Given the description of an element on the screen output the (x, y) to click on. 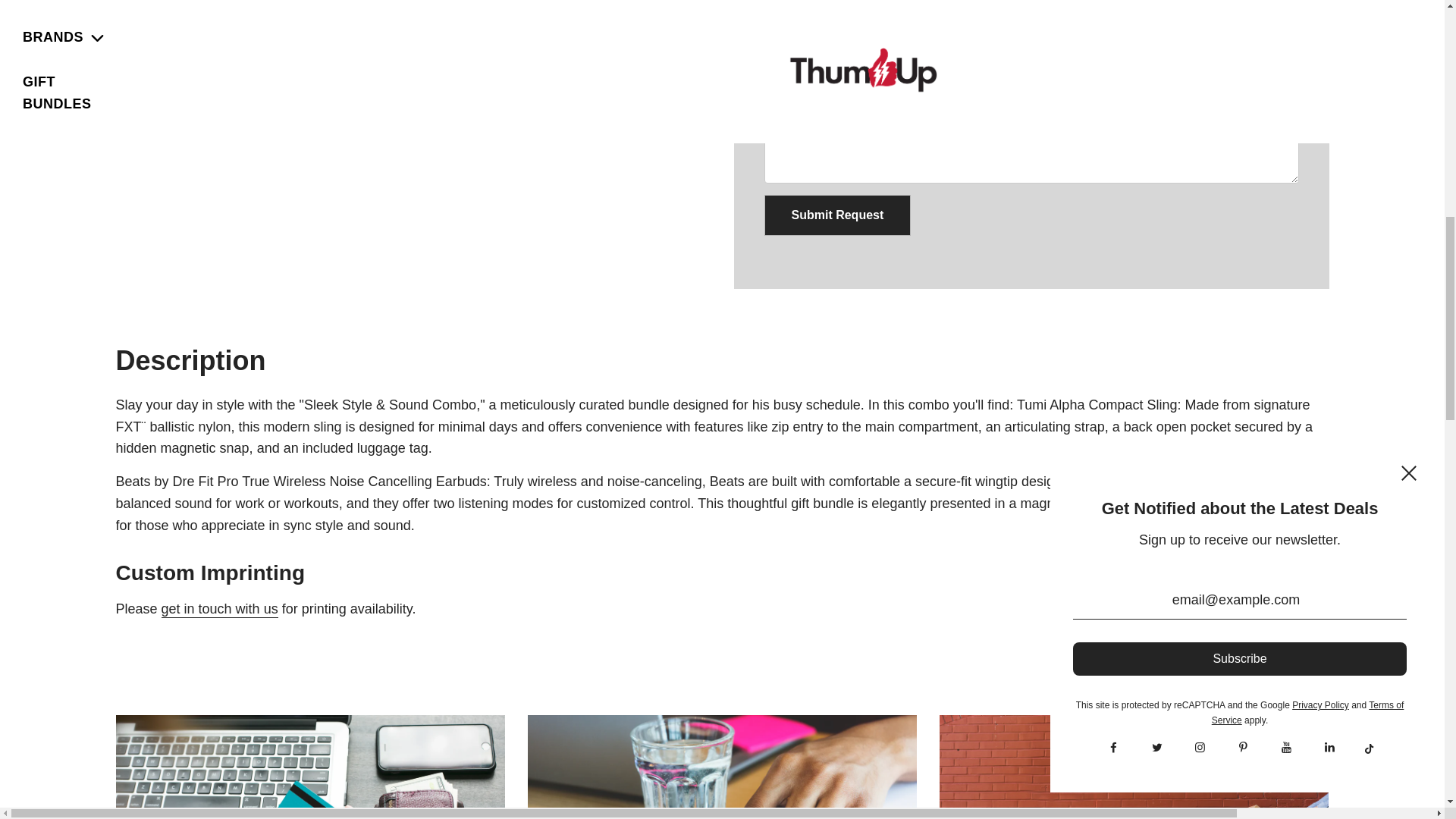
Submit Request (837, 215)
